Given the description of an element on the screen output the (x, y) to click on. 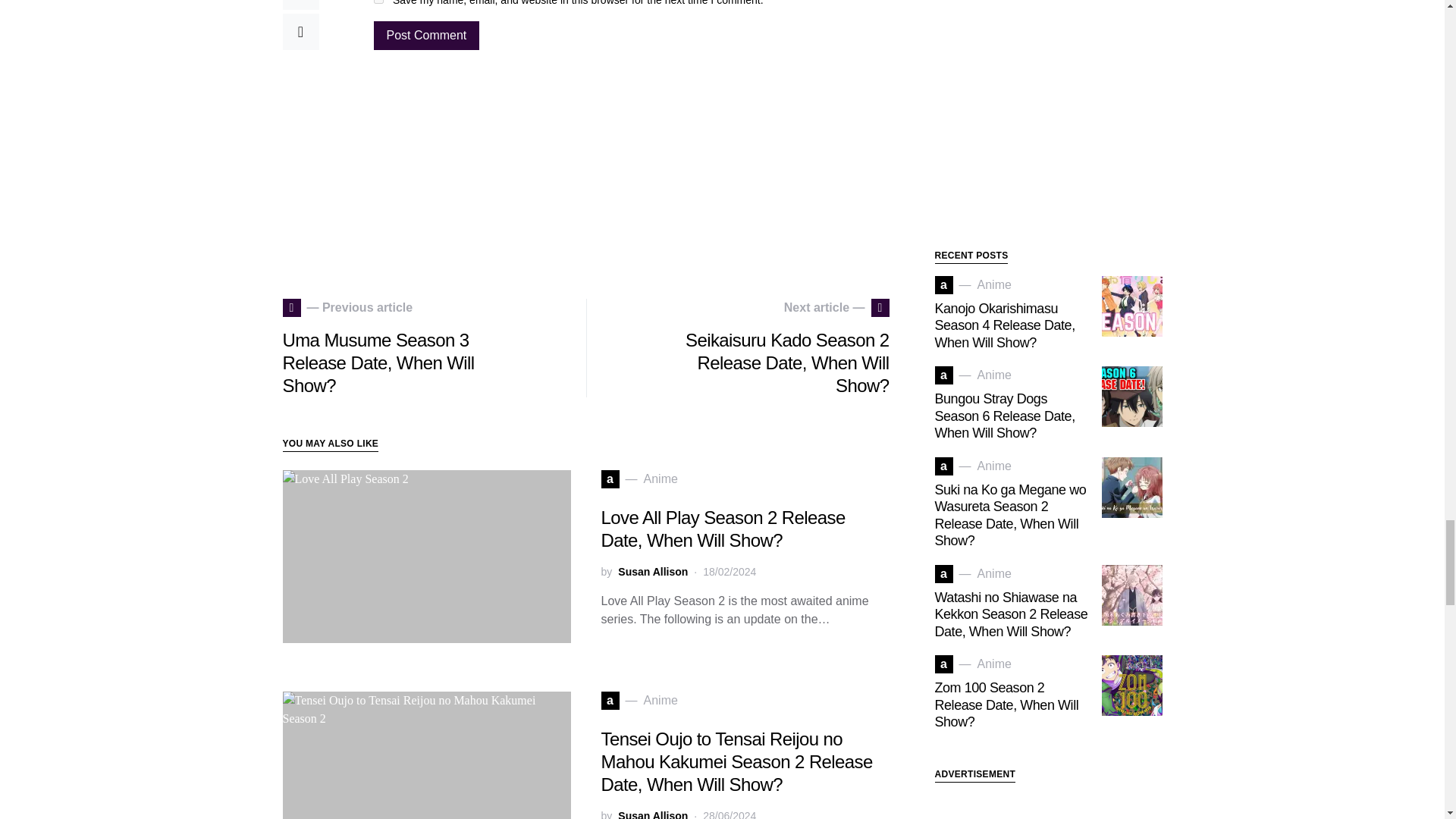
View all posts by Susan Allison (652, 571)
View all posts by Susan Allison (652, 813)
Post Comment (425, 35)
yes (377, 2)
